Given the description of an element on the screen output the (x, y) to click on. 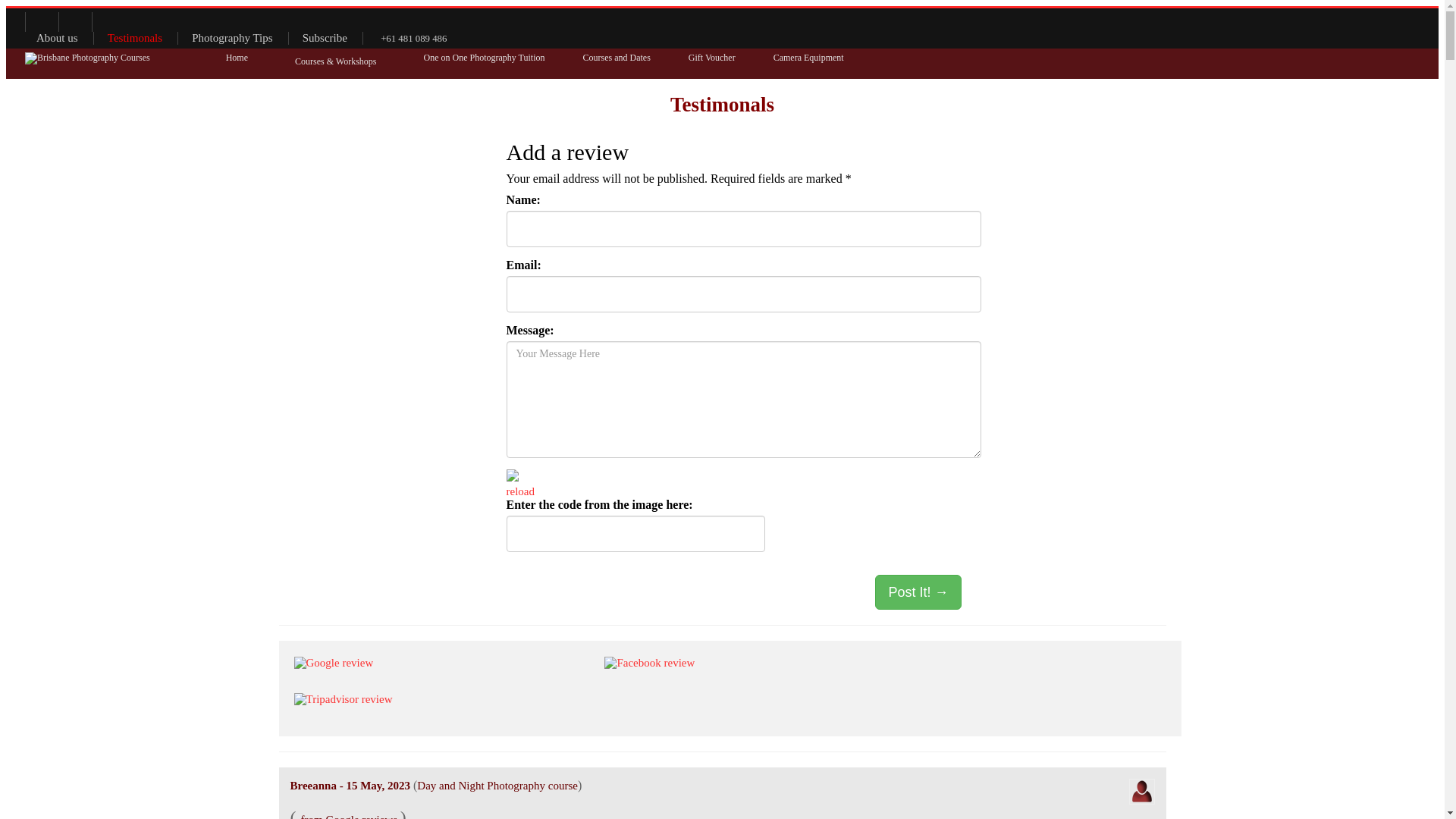
reload Element type: text (520, 491)
Photography Tips Element type: text (231, 37)
Breeanna - 15 May, 2023 Element type: text (349, 785)
Subscribe Element type: text (324, 37)
About us Element type: text (57, 37)
Twitter Element type: hover (41, 21)
Youtube Element type: hover (74, 21)
Gift Voucher Element type: text (711, 57)
Testimonals Element type: text (134, 37)
One on One Photography Tuition Element type: text (483, 57)
Camera Equipment Element type: text (808, 57)
Courses & Workshops Element type: text (335, 63)
Home Element type: text (236, 57)
Courses & Workshops Element type: text (335, 61)
Instagram Element type: hover (108, 21)
Facebook Element type: hover (7, 21)
Courses and Dates Element type: text (615, 57)
Day and Night Photography course Element type: text (497, 785)
